Given the description of an element on the screen output the (x, y) to click on. 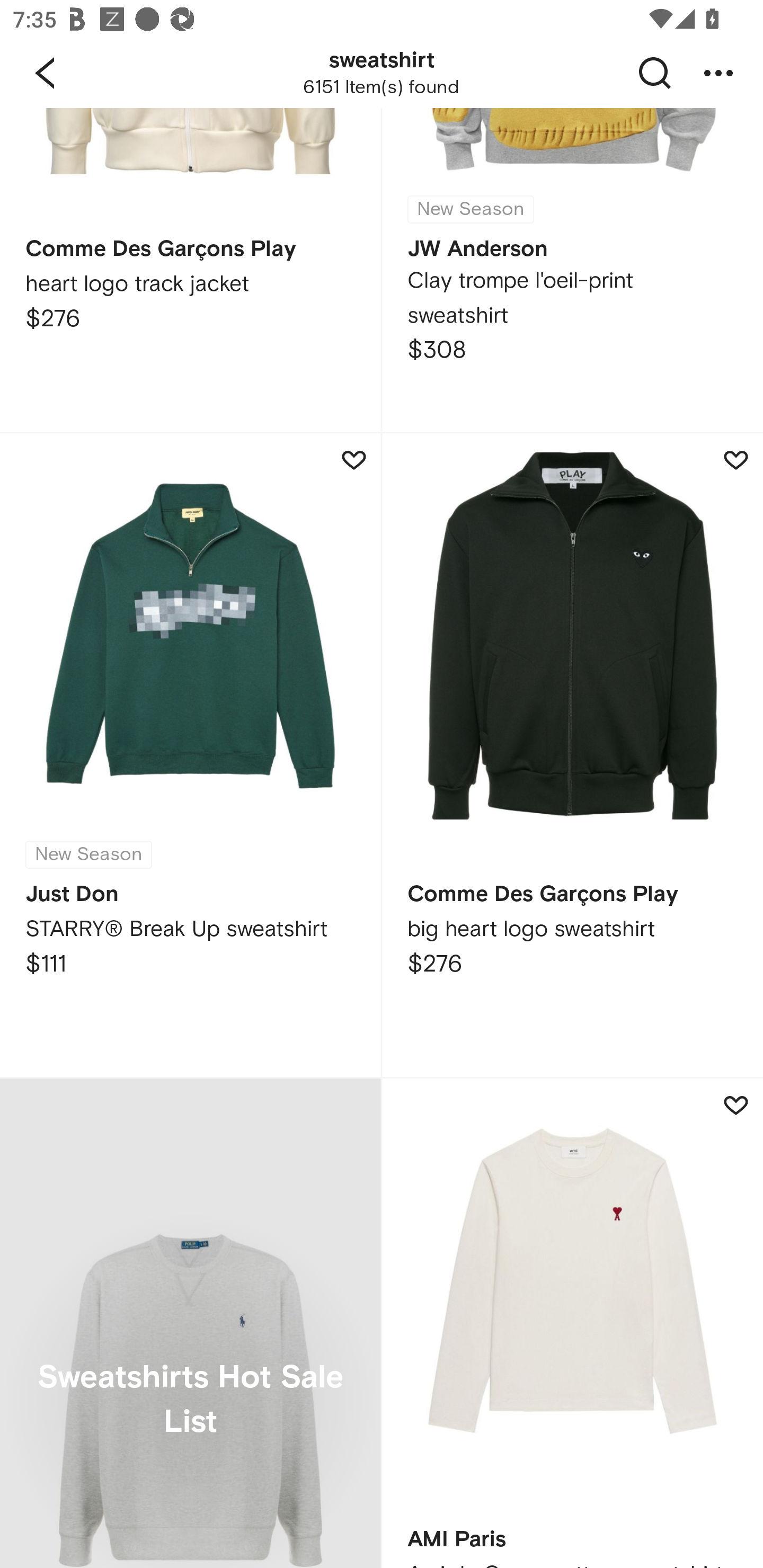
Sweatshirts Hot Sale List (190, 1323)
AMI Paris Ami de Coeur cotton sweatshirt  (572, 1323)
